Given the description of an element on the screen output the (x, y) to click on. 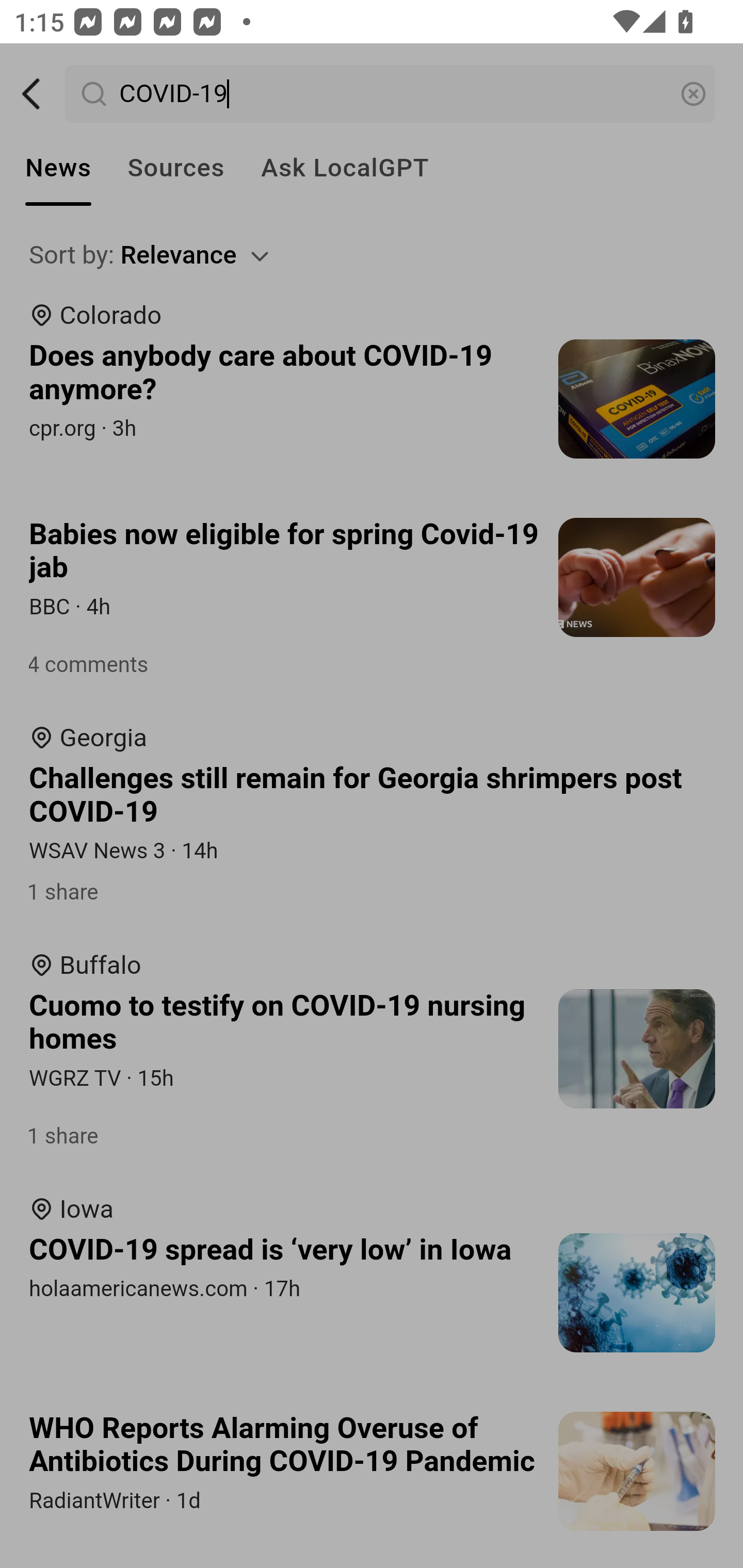
COVID-19 (390, 93)
News (58, 168)
Sources (175, 168)
Ask LocalGPT (344, 168)
Sort by:  Relevance (372, 254)
